Given the description of an element on the screen output the (x, y) to click on. 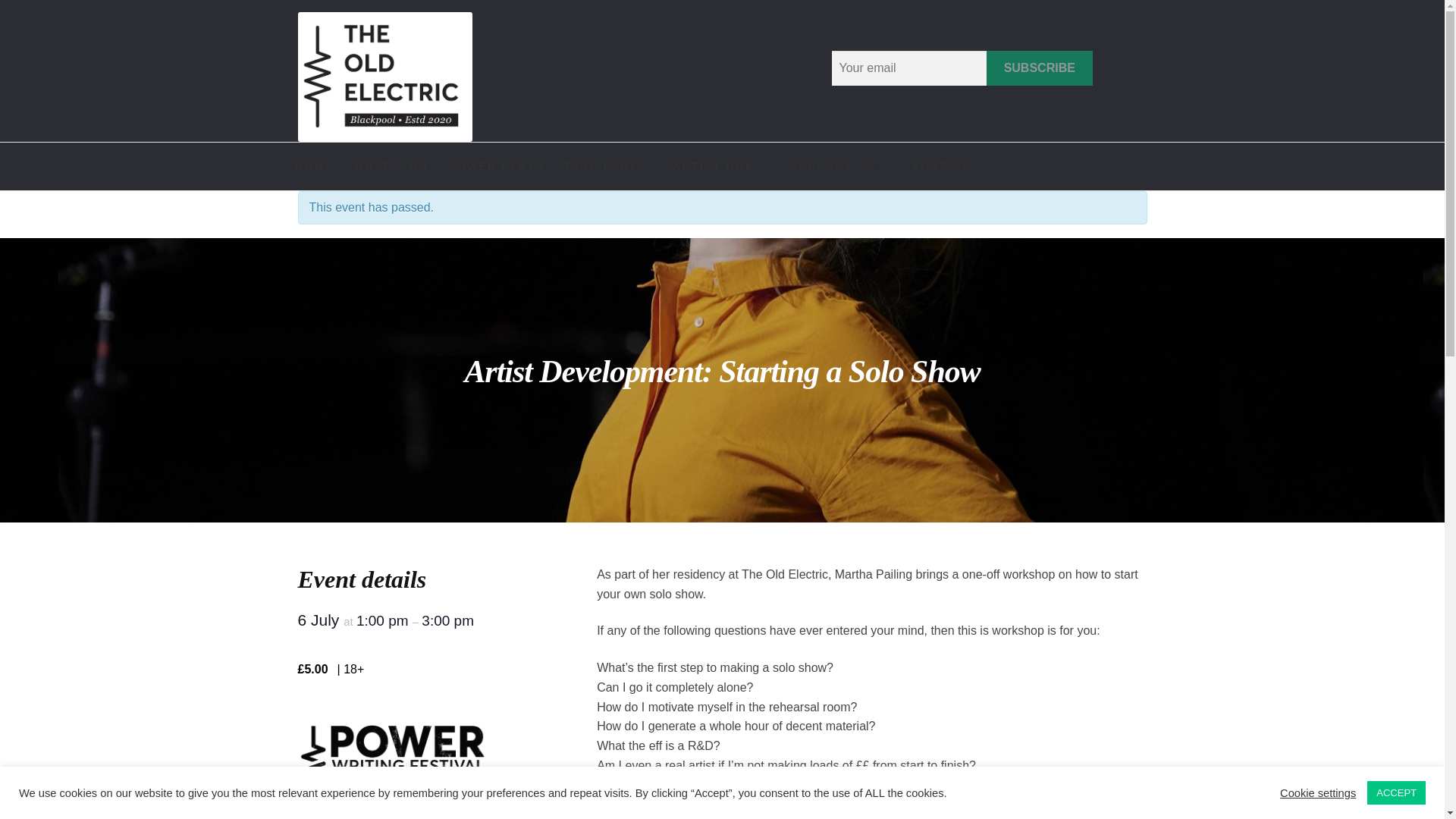
TAKE PART (608, 166)
ARTIST HUB (721, 166)
HOME (314, 166)
Subscribe (1040, 67)
VISIT US (948, 166)
POWER PLAYS (496, 166)
Subscribe (1040, 67)
SUPPORT US (841, 166)
